Given the description of an element on the screen output the (x, y) to click on. 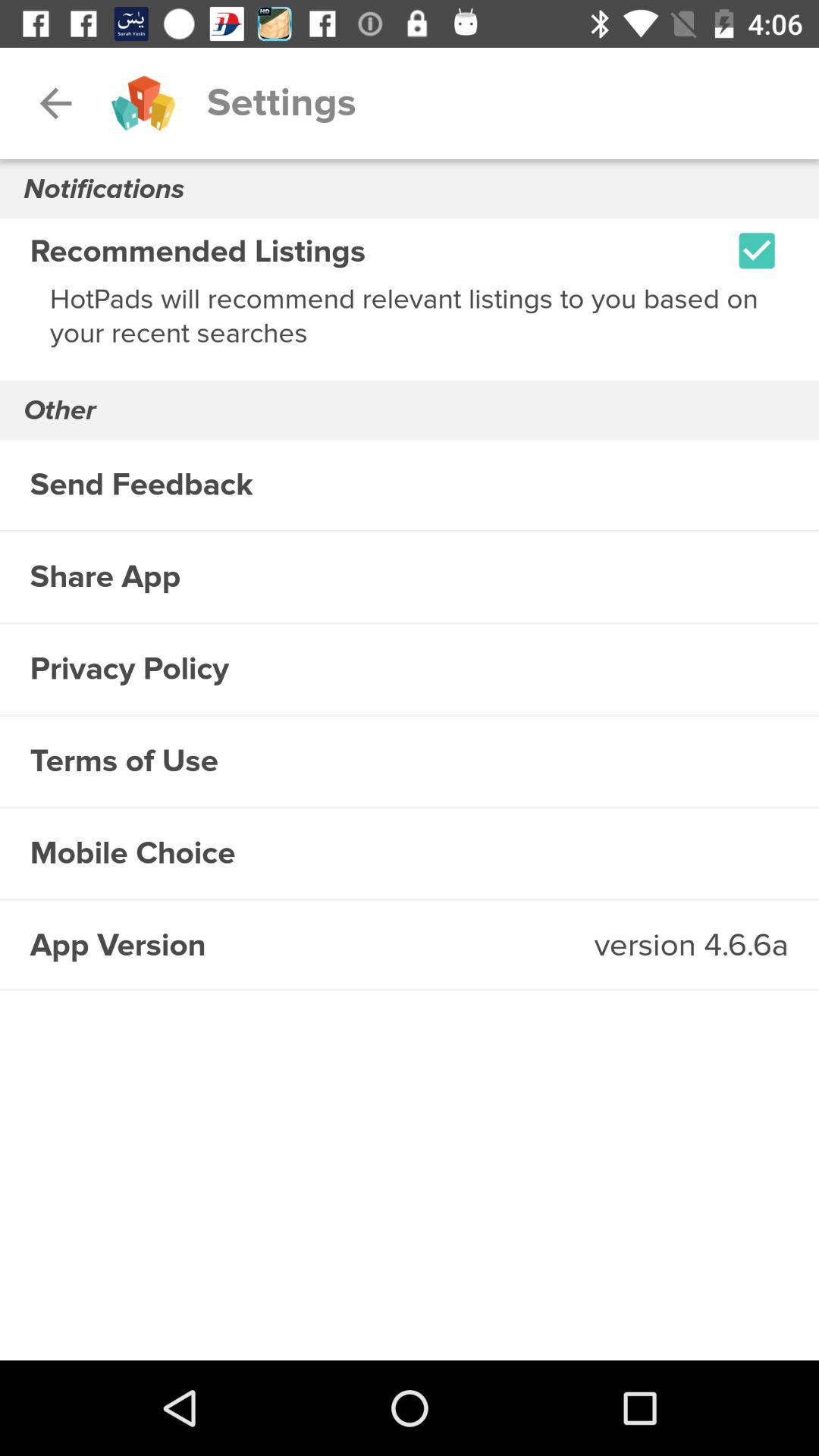
uncheck recommended listings (756, 250)
